Given the description of an element on the screen output the (x, y) to click on. 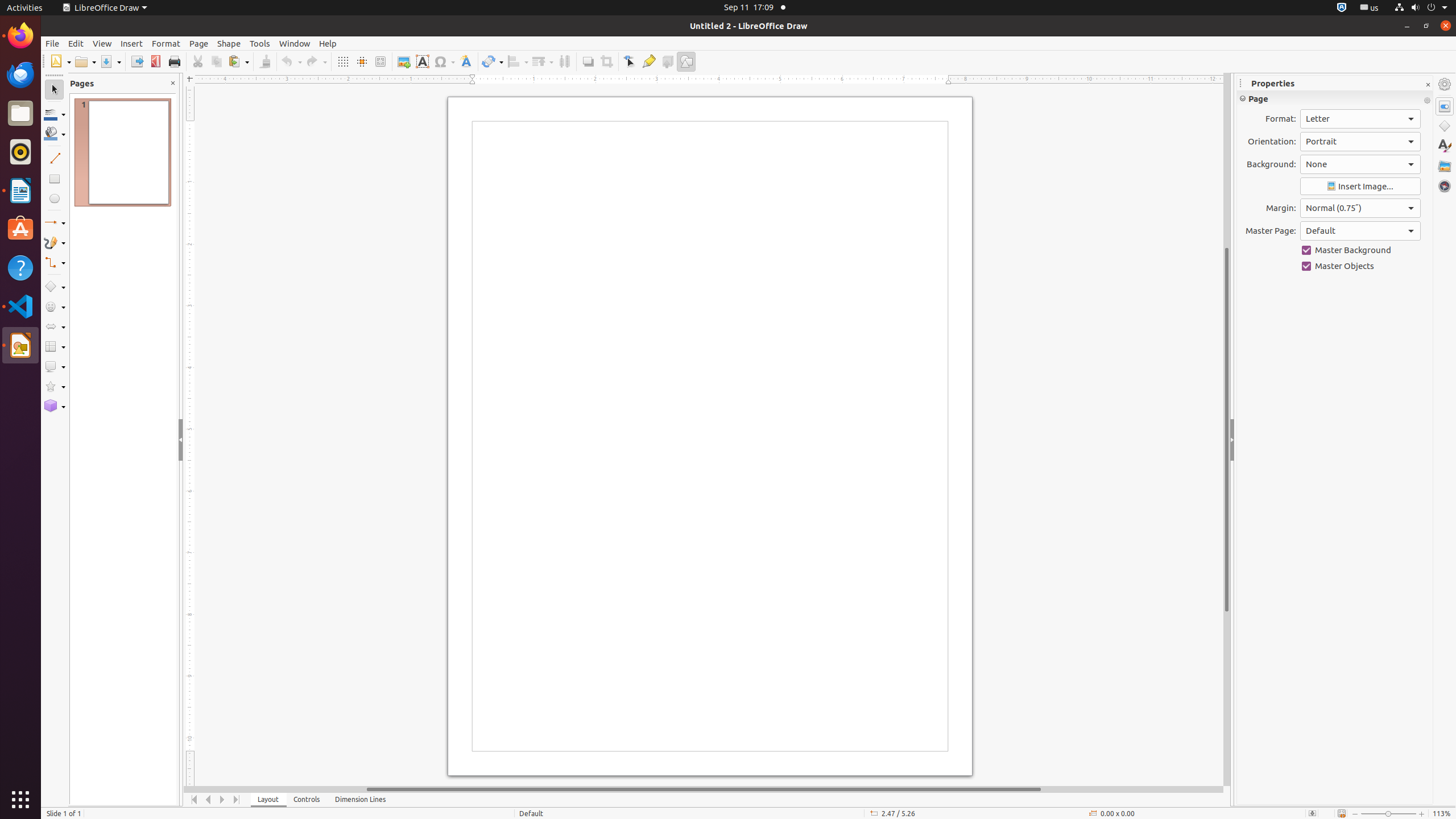
3D Objects Element type: push-button (54, 406)
View Element type: menu (102, 43)
Vertical scroll bar Element type: scroll-bar (1226, 429)
PDF Element type: push-button (155, 61)
Ubuntu Software Element type: push-button (20, 229)
